Given the description of an element on the screen output the (x, y) to click on. 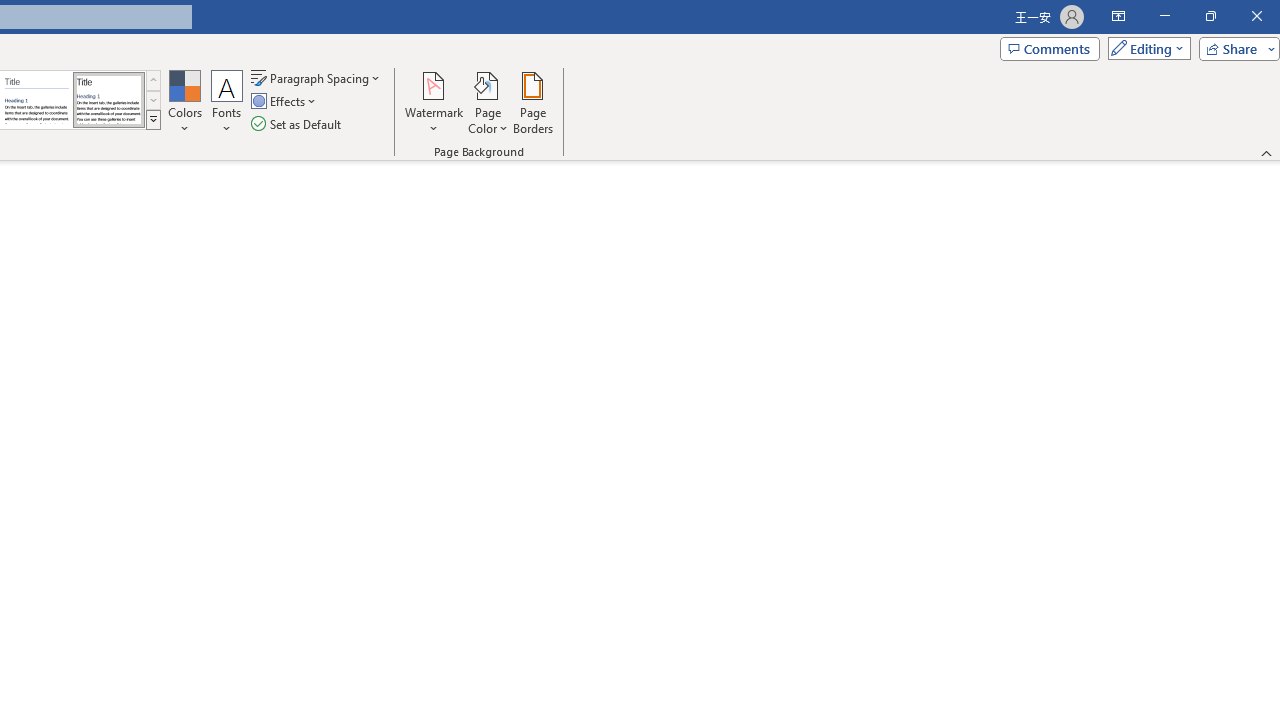
Style Set (153, 120)
Paragraph Spacing (317, 78)
Set as Default (298, 124)
Word 2010 (36, 100)
Effects (285, 101)
Fonts (227, 102)
Word 2013 (108, 100)
Watermark (434, 102)
Page Borders... (532, 102)
